Given the description of an element on the screen output the (x, y) to click on. 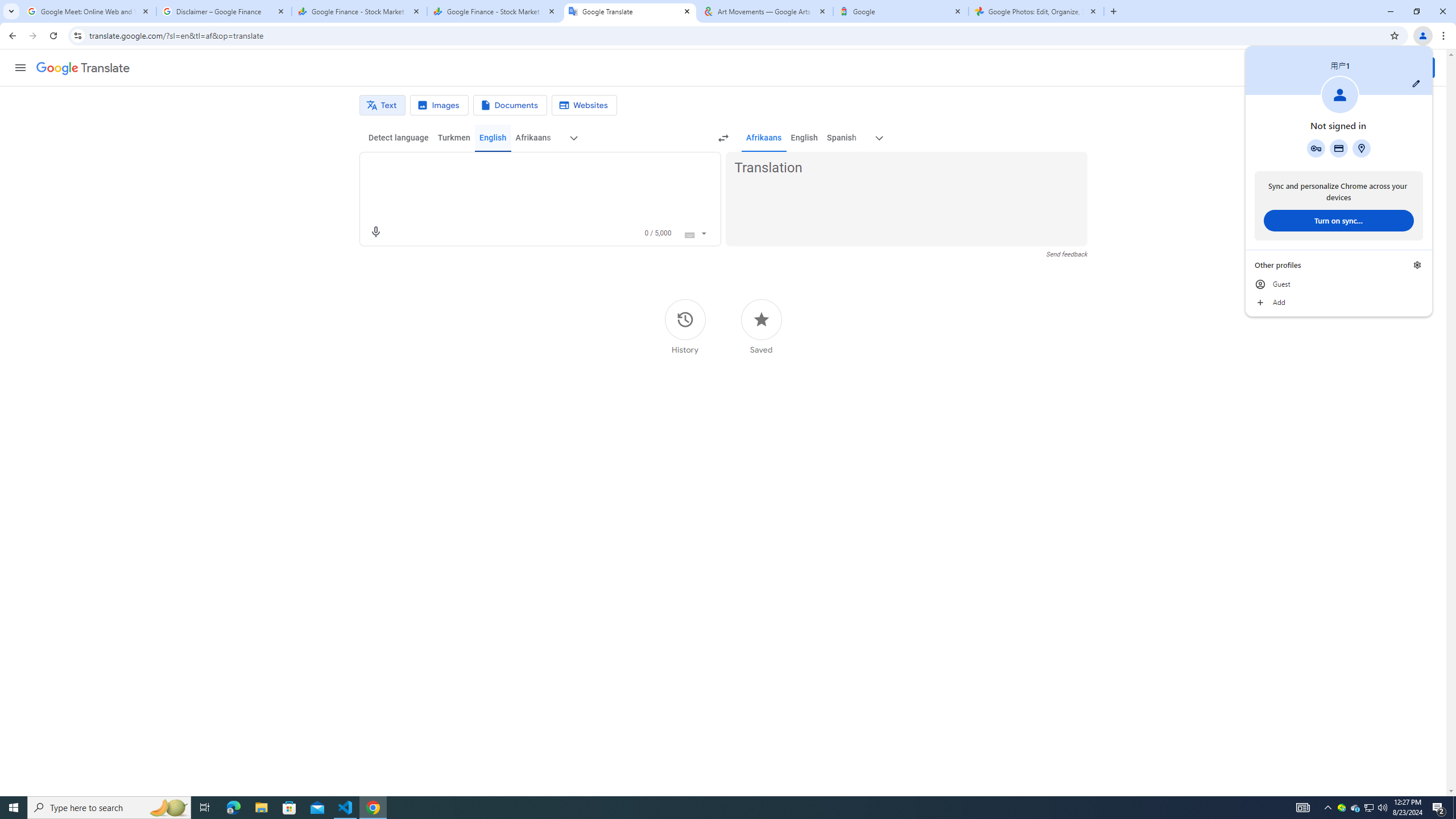
Payment methods (1338, 148)
AutomationID: 4105 (1303, 807)
Google Translate (630, 11)
Address and search bar (735, 35)
Addresses and more (1361, 148)
Send feedback (1066, 253)
Google (901, 11)
